Given the description of an element on the screen output the (x, y) to click on. 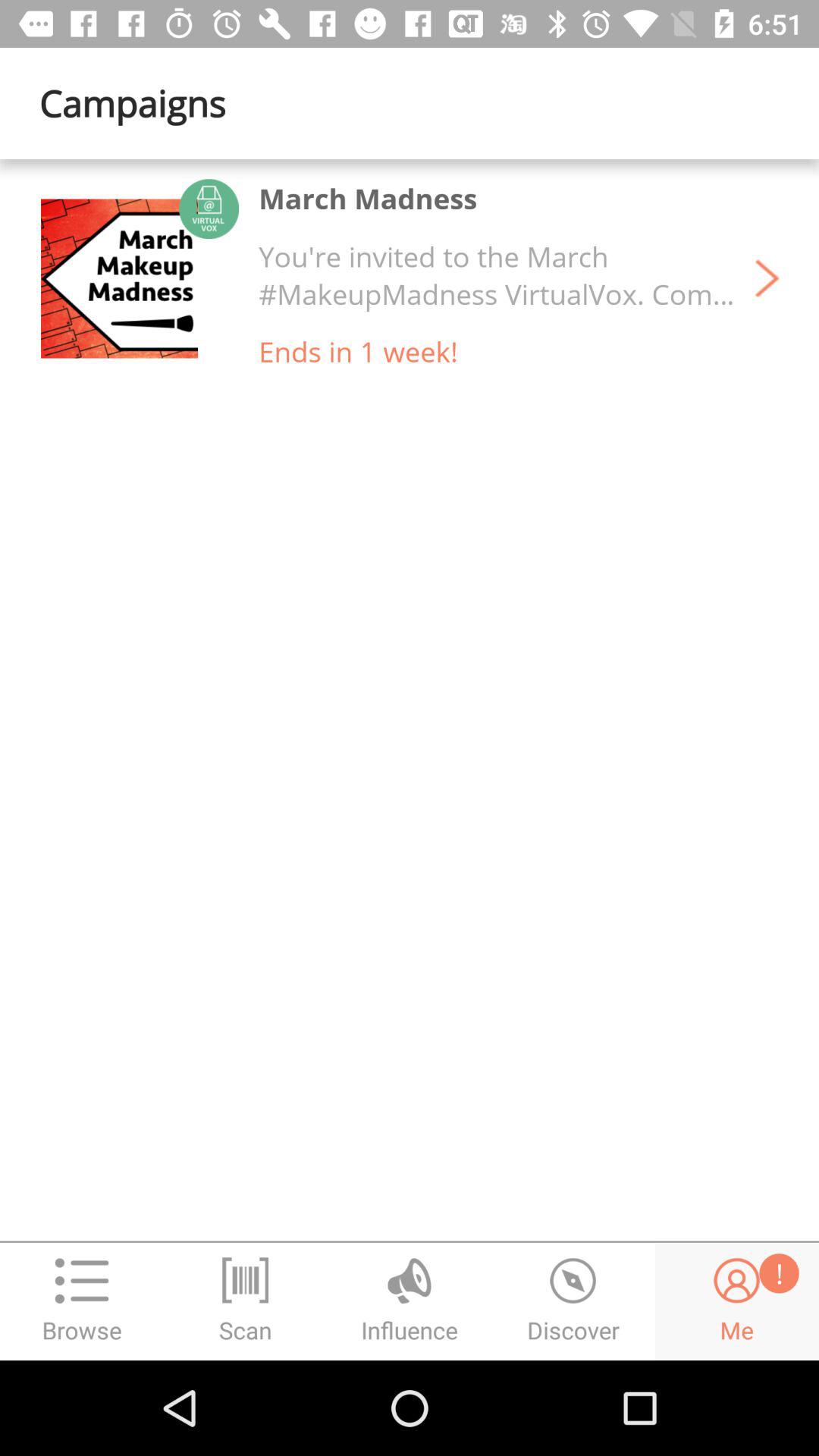
click item to the left of the march madness icon (119, 278)
